Given the description of an element on the screen output the (x, y) to click on. 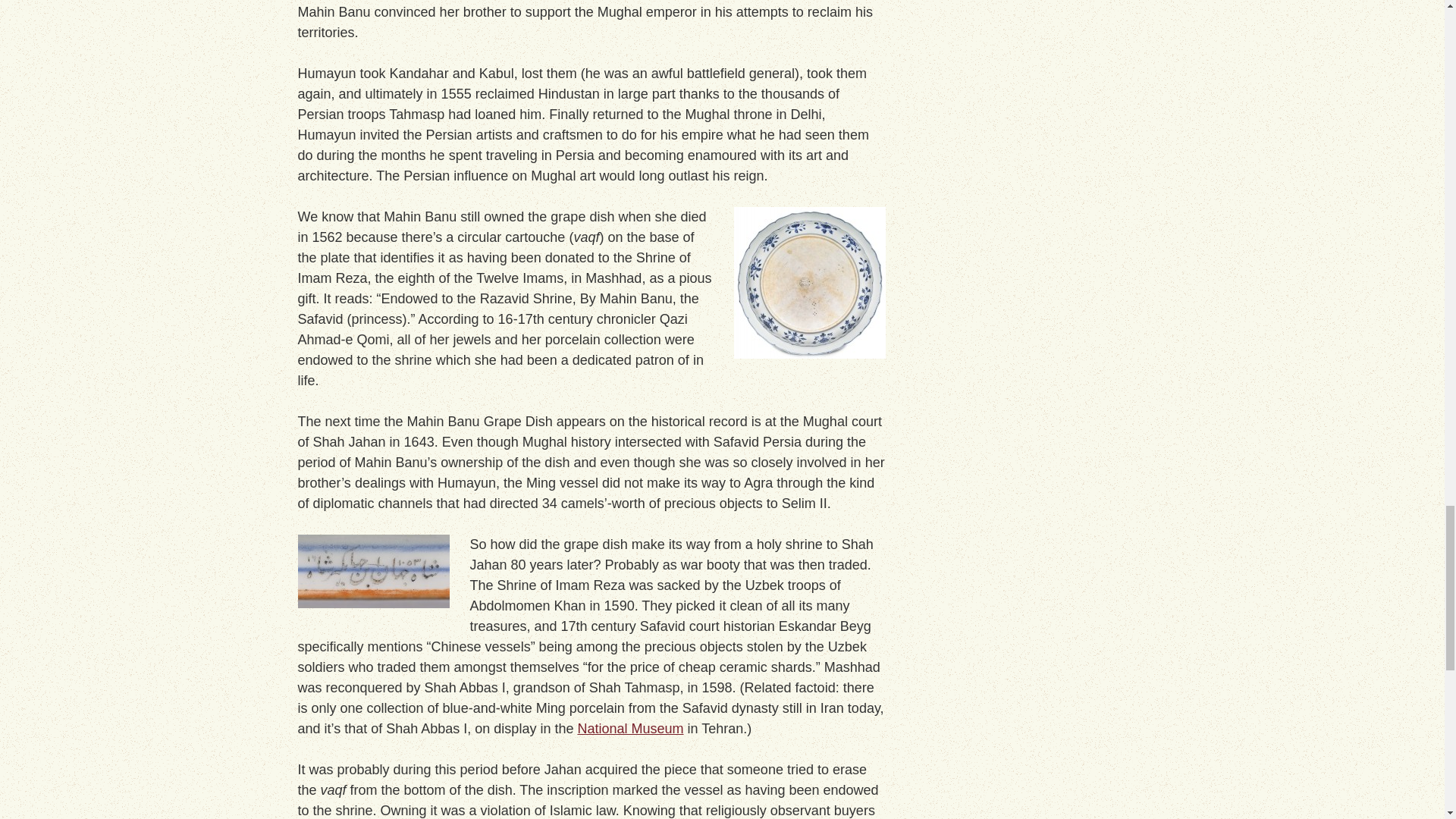
National Museum (629, 728)
